Given the description of an element on the screen output the (x, y) to click on. 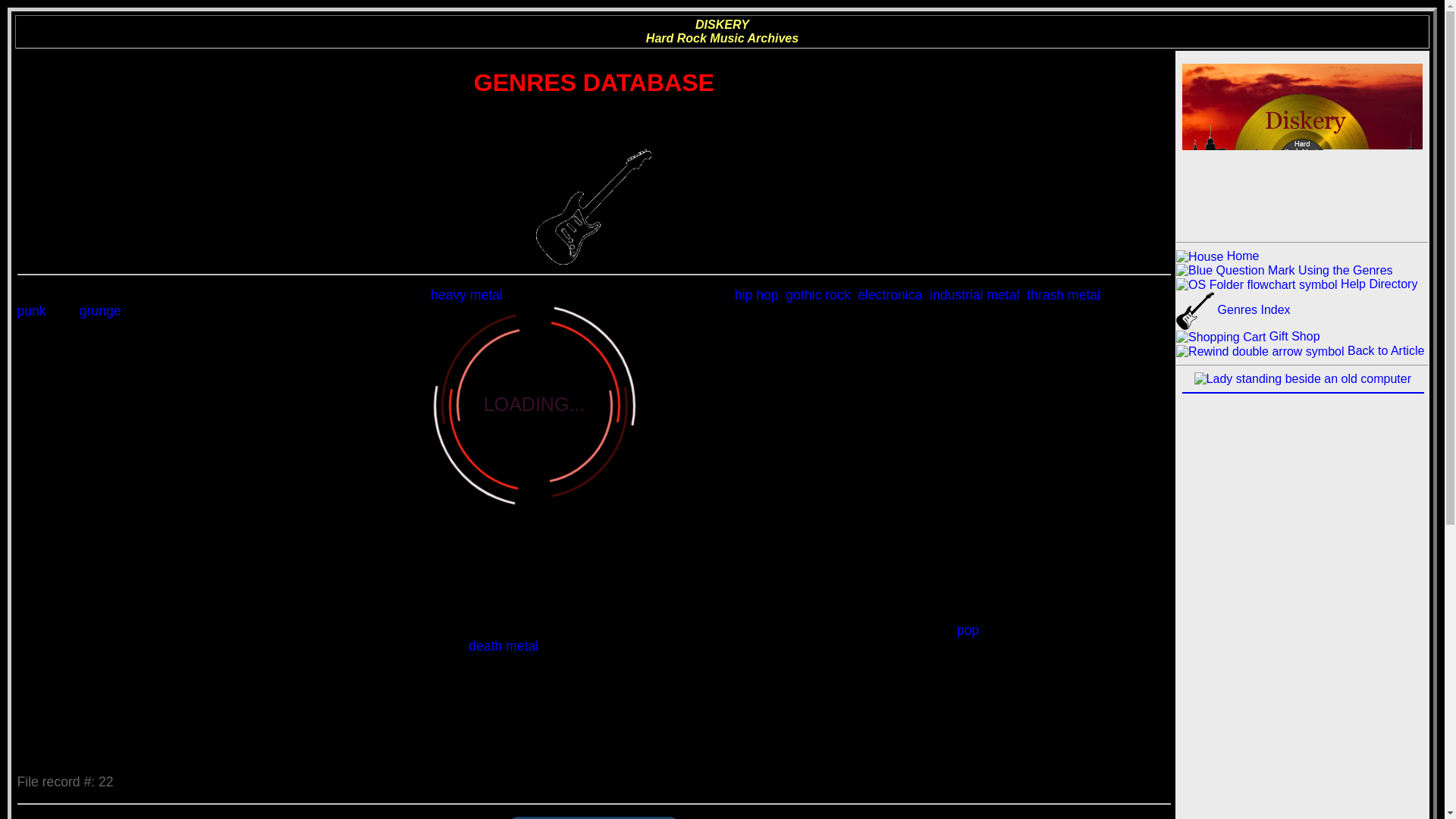
Home (1217, 255)
gothic rock (818, 294)
thrash metal (1063, 294)
death metal (503, 645)
Gift Shop (1247, 336)
electronica (889, 294)
grunge (100, 310)
punk (31, 310)
pop (967, 630)
hip hop (756, 294)
Genres Index (1233, 309)
Help Directory (1296, 283)
industrial metal (974, 294)
heavy metal (466, 294)
Using the Genres (1283, 269)
